Given the description of an element on the screen output the (x, y) to click on. 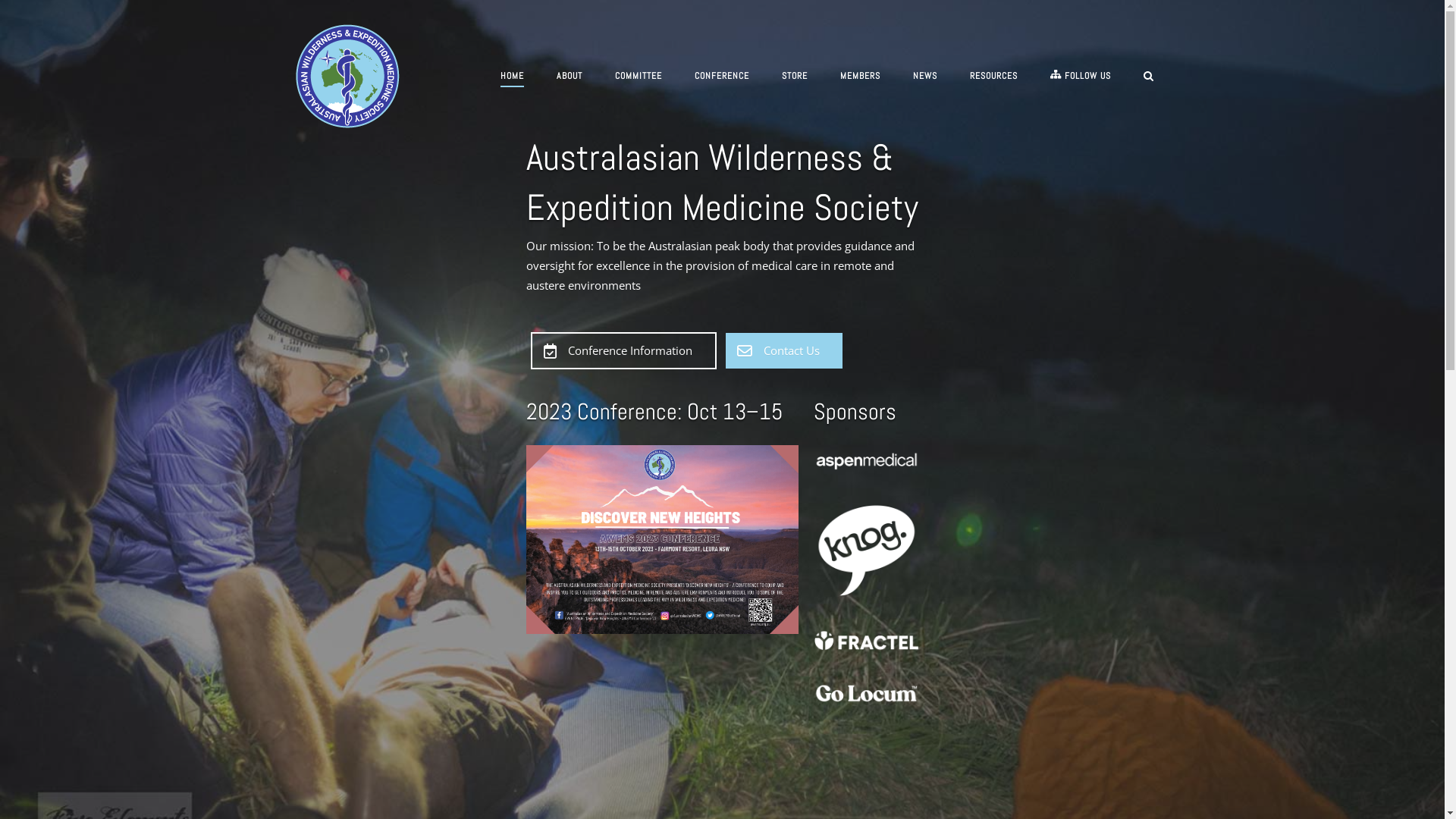
STORE Element type: text (794, 78)
HOME Element type: text (512, 78)
FOLLOW US Element type: text (1080, 77)
Conference Information Element type: text (623, 350)
Contact Us Element type: text (782, 350)
NEWS Element type: text (925, 78)
CONFERENCE Element type: text (721, 78)
MEMBERS Element type: text (860, 77)
RESOURCES Element type: text (993, 78)
ABOUT Element type: text (569, 78)
COMMITTEE Element type: text (638, 78)
